Given the description of an element on the screen output the (x, y) to click on. 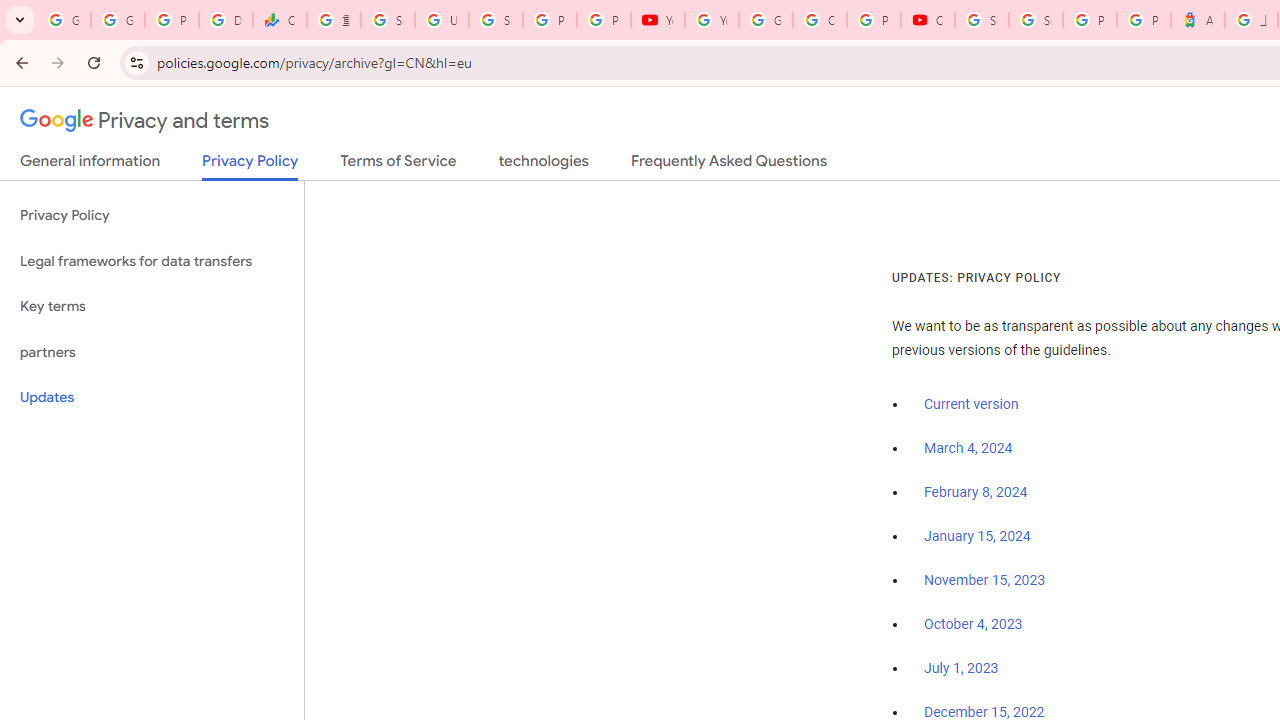
February 8, 2024 (975, 492)
Search tabs (20, 20)
View site information (136, 62)
Current version (971, 404)
Sign in - Google Accounts (1035, 20)
Privacy and terms (145, 121)
YouTube (657, 20)
Currencies - Google Finance (280, 20)
Reload (93, 62)
Back (19, 62)
November 15, 2023 (984, 580)
